Given the description of an element on the screen output the (x, y) to click on. 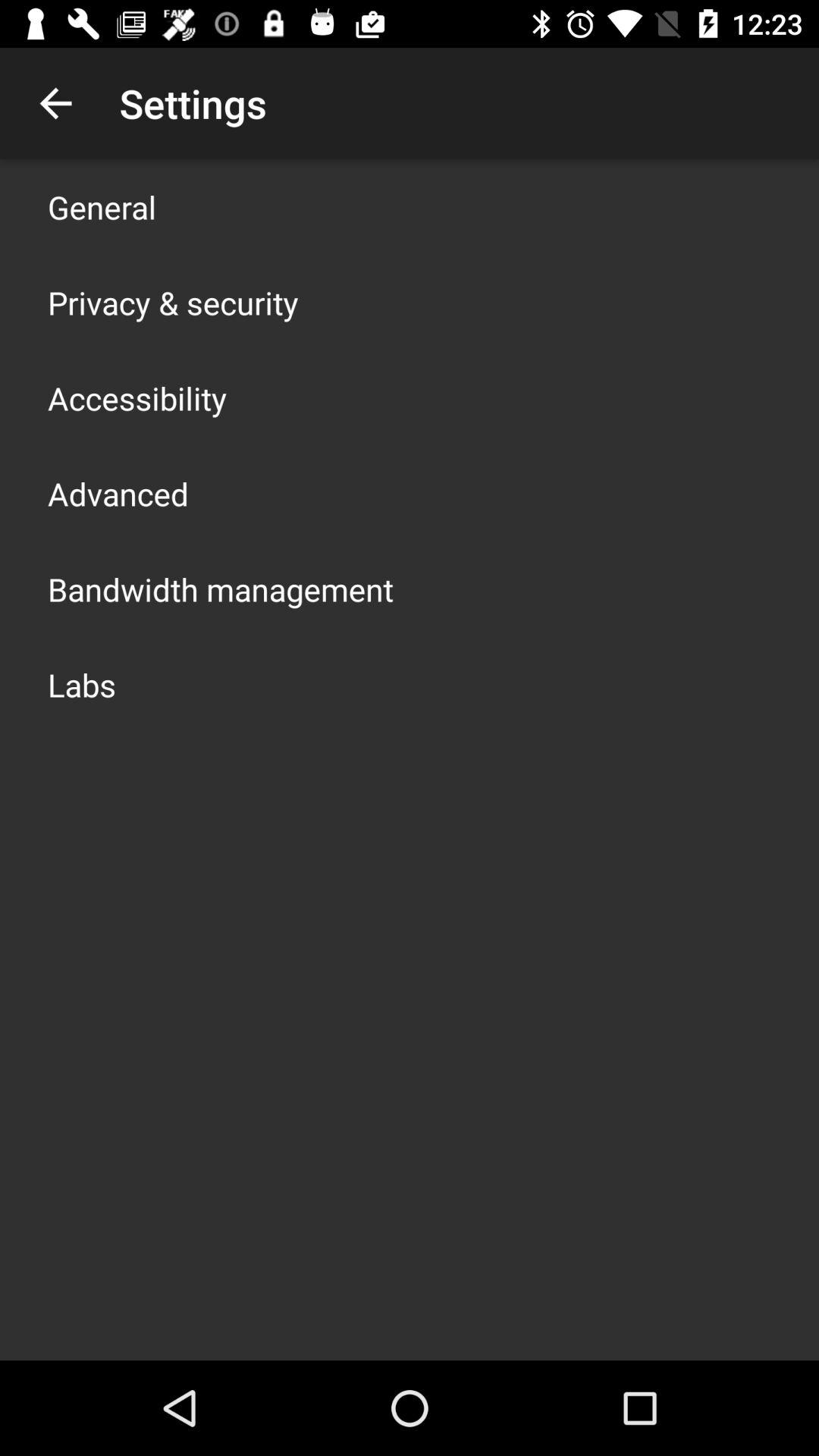
press labs icon (81, 684)
